Given the description of an element on the screen output the (x, y) to click on. 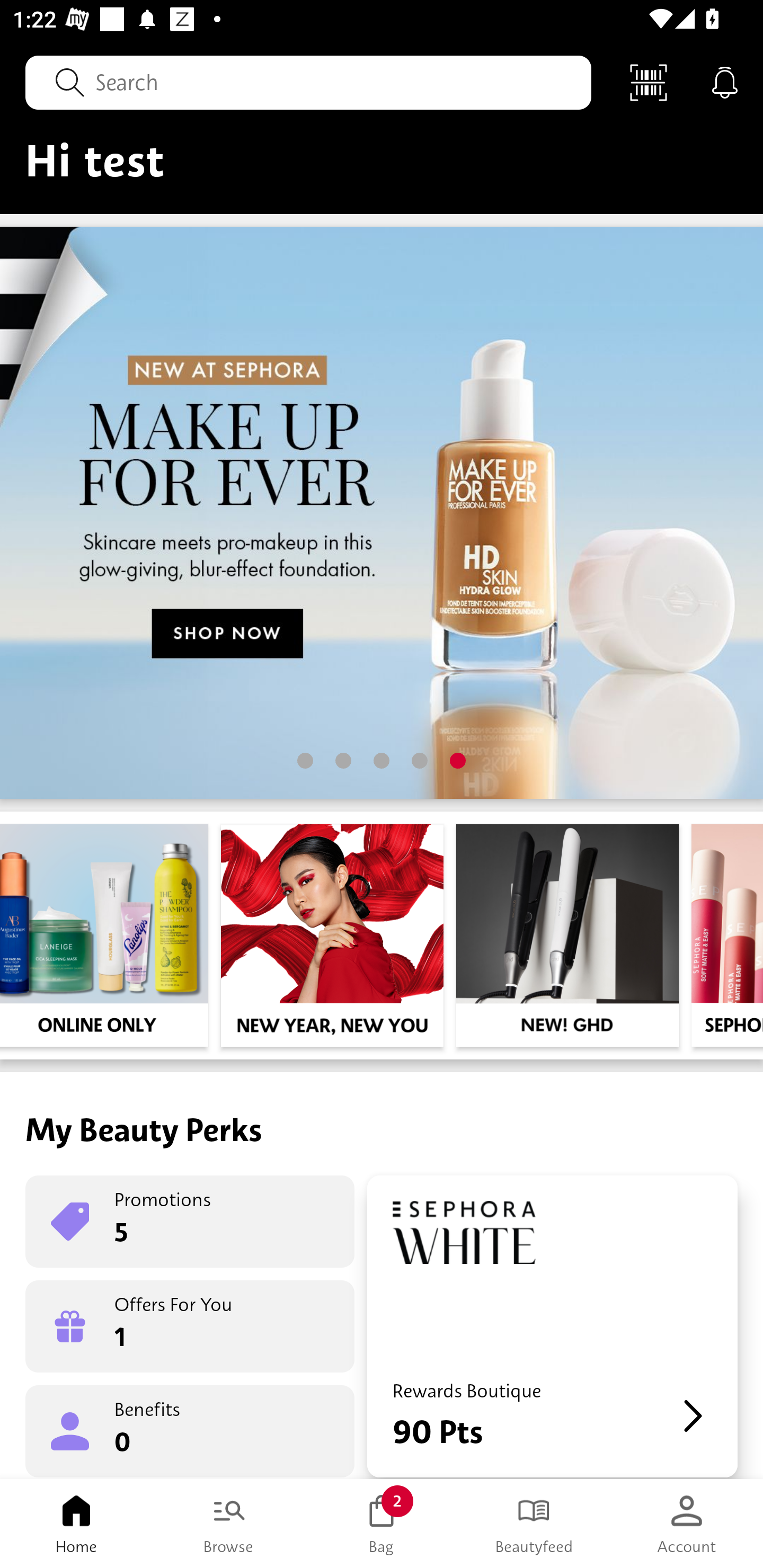
Scan Code (648, 81)
Notifications (724, 81)
Search (308, 81)
Promotions 5 (189, 1221)
Rewards Boutique 90 Pts (552, 1326)
Offers For You 1 (189, 1326)
Benefits 0 (189, 1430)
Browse (228, 1523)
Bag 2 Bag (381, 1523)
Beautyfeed (533, 1523)
Account (686, 1523)
